Given the description of an element on the screen output the (x, y) to click on. 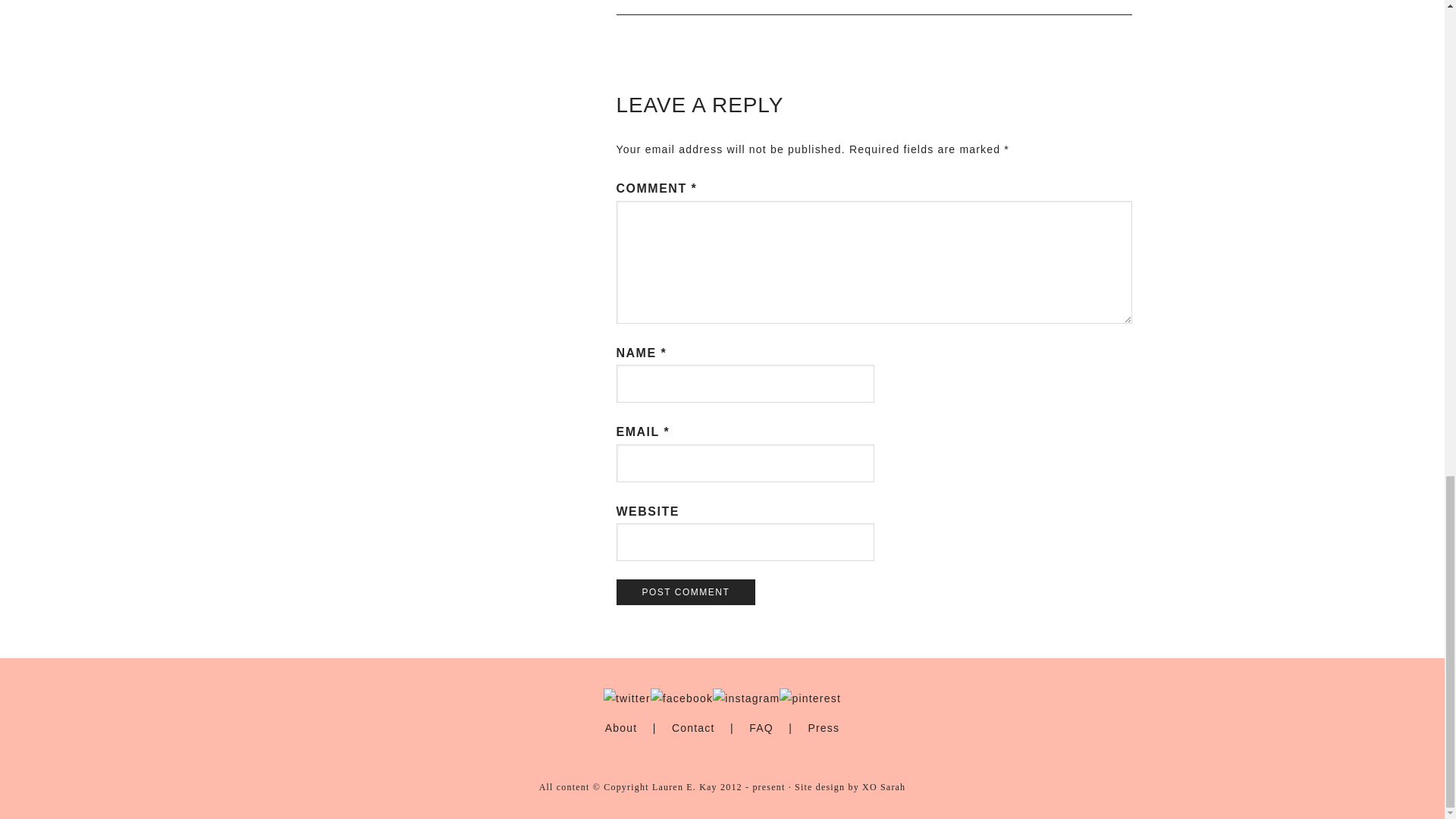
Contact (692, 727)
Press (824, 727)
XO Sarah (883, 787)
Post Comment (685, 592)
About (621, 727)
Post Comment (685, 592)
FAQ (761, 727)
